Given the description of an element on the screen output the (x, y) to click on. 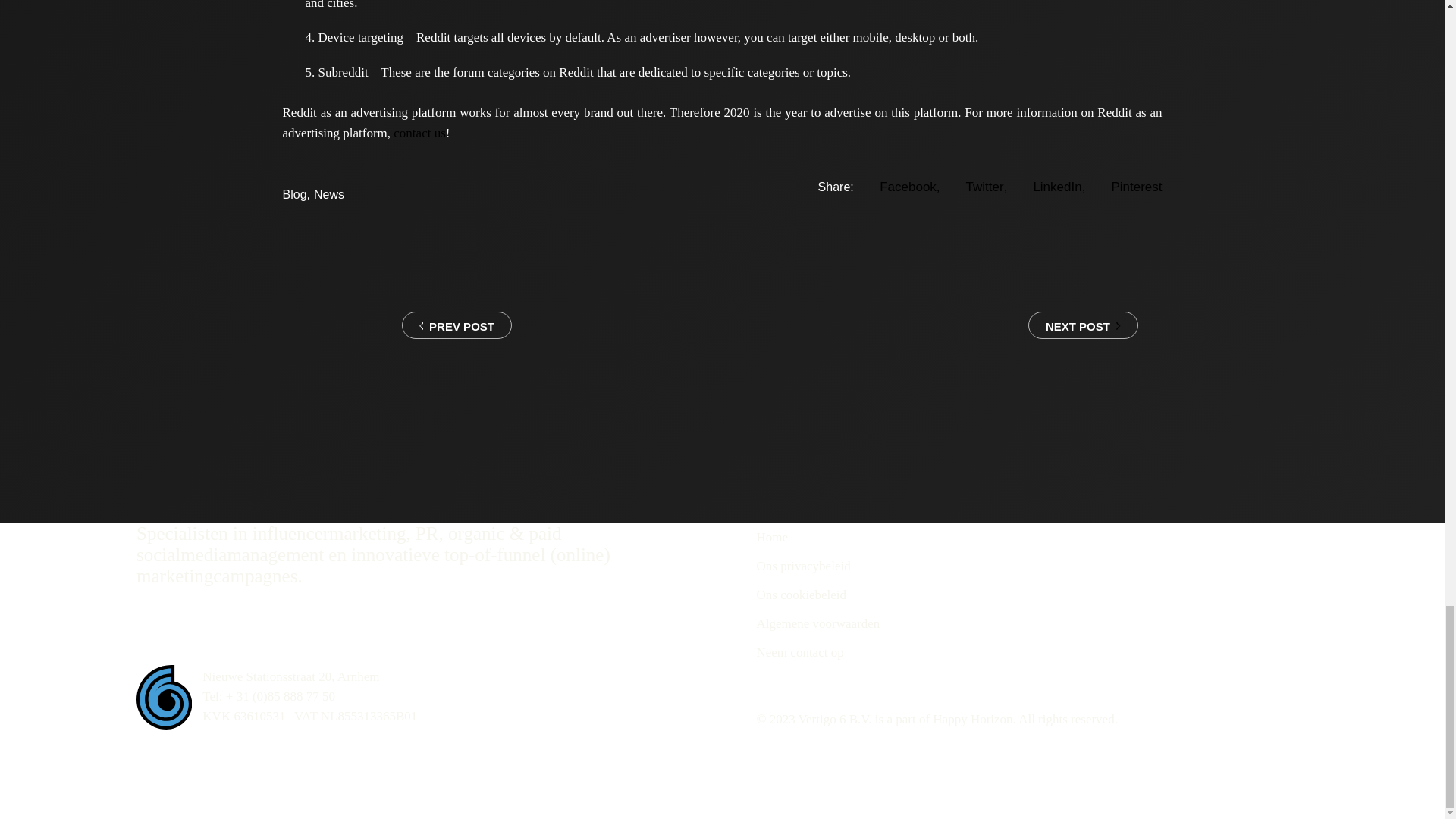
Twitter (986, 186)
Nieuwe Stationsstraat 20, Arnhem (290, 676)
Blog (293, 194)
Home (773, 536)
PREV POST (396, 324)
Pinterest (1135, 186)
Ons privacybeleid (803, 565)
Facebook (909, 186)
NEXT POST (1094, 325)
contact us (419, 133)
